Given the description of an element on the screen output the (x, y) to click on. 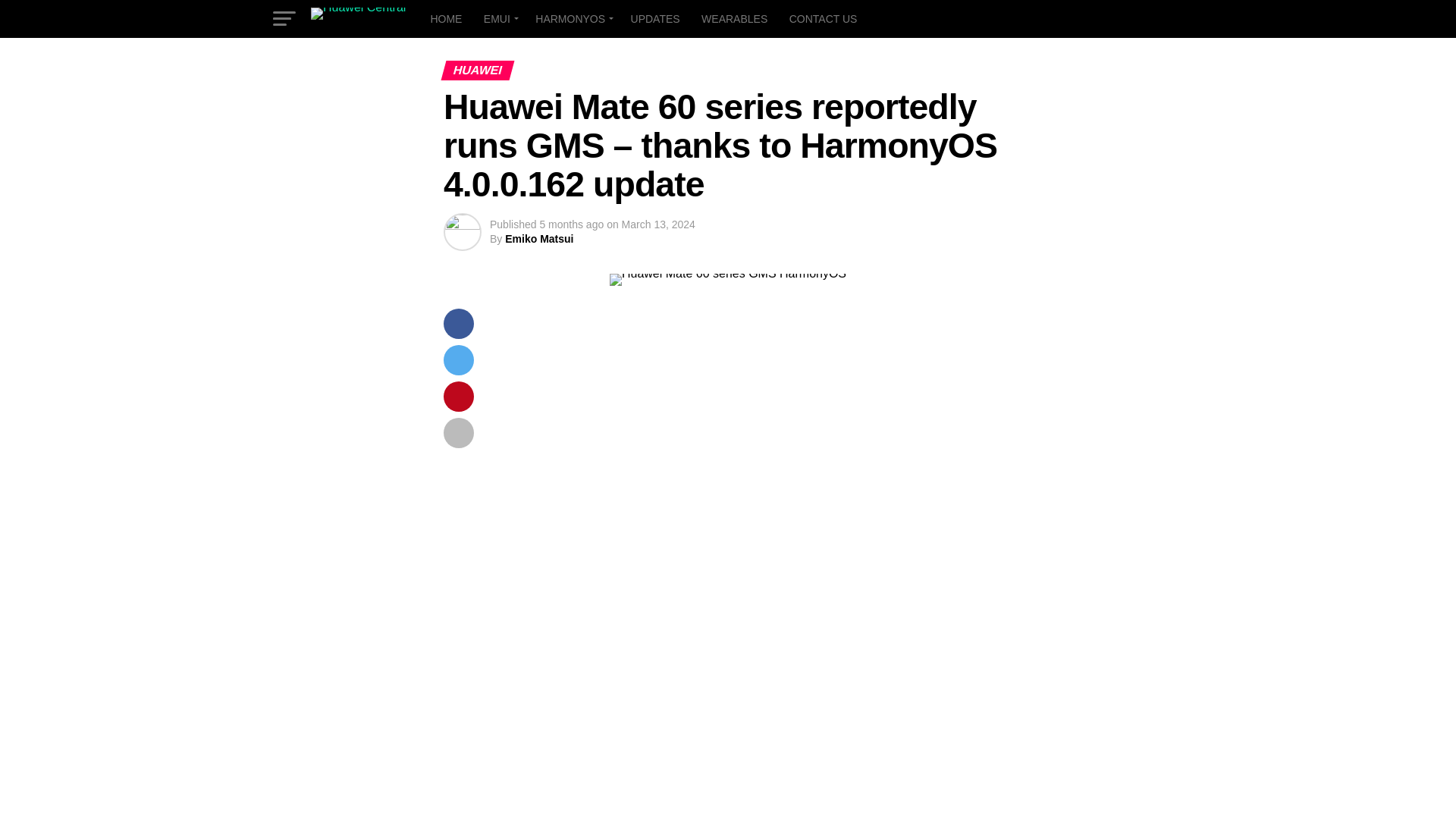
HOME (445, 18)
UPDATES (654, 18)
Posts by Emiko Matsui (539, 238)
HARMONYOS (571, 18)
EMUI (498, 18)
